Given the description of an element on the screen output the (x, y) to click on. 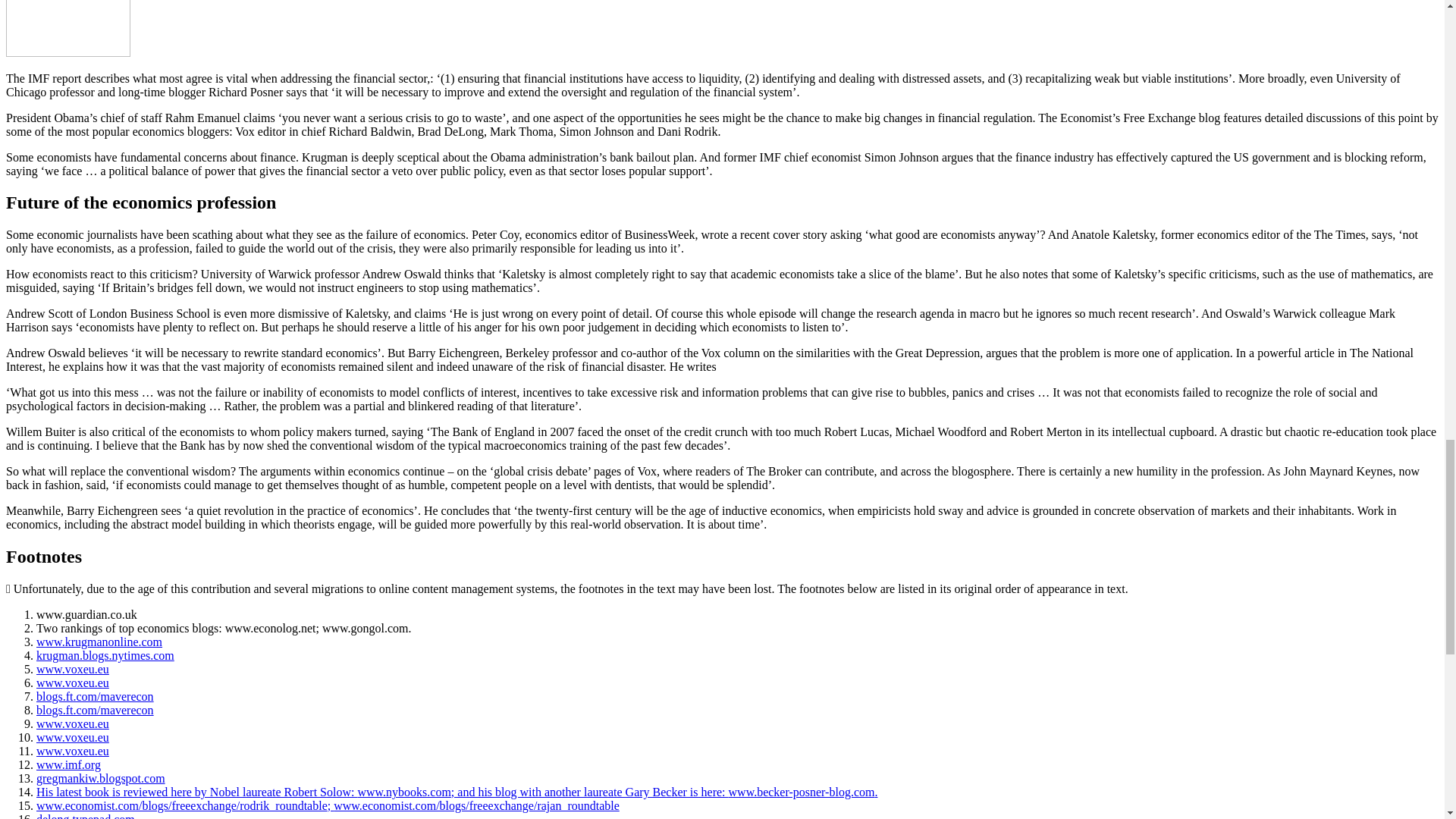
www.nybooks.com (402, 791)
. (876, 791)
www.becker-posner-blog.com (802, 791)
www.voxeu.eu (72, 682)
;  (330, 805)
krugman.blogs.nytimes.com (105, 655)
www.voxeu.eu (72, 737)
delong.typepad.com (85, 816)
gregmankiw.blogspot.com (100, 778)
www.krugmanonline.com (98, 641)
www.voxeu.eu (72, 750)
; and his blog with another laureate Gary Becker is here:  (590, 791)
www.voxeu.eu (72, 668)
www.imf.org (68, 764)
